Given the description of an element on the screen output the (x, y) to click on. 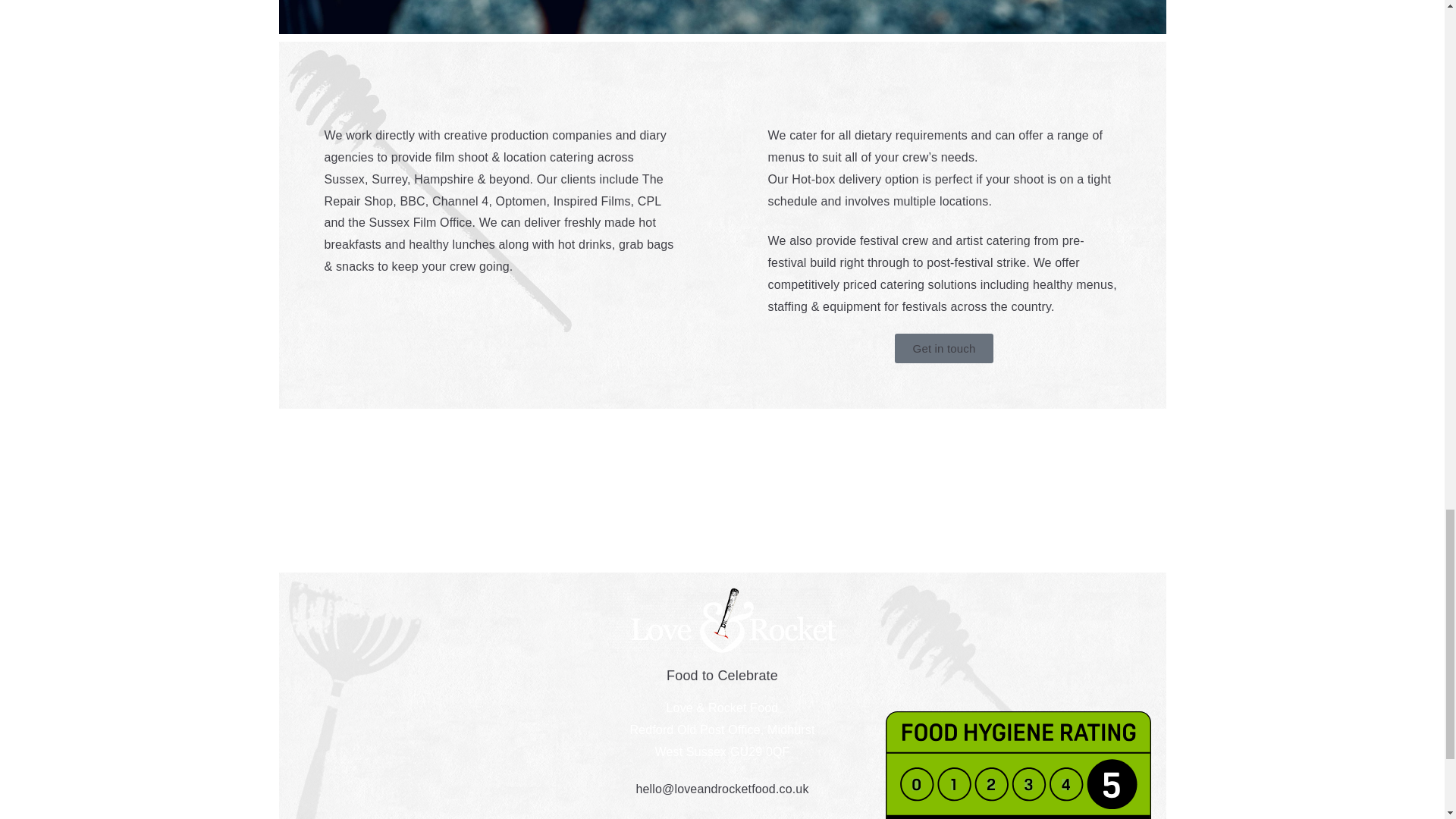
Get in touch (944, 348)
